Given the description of an element on the screen output the (x, y) to click on. 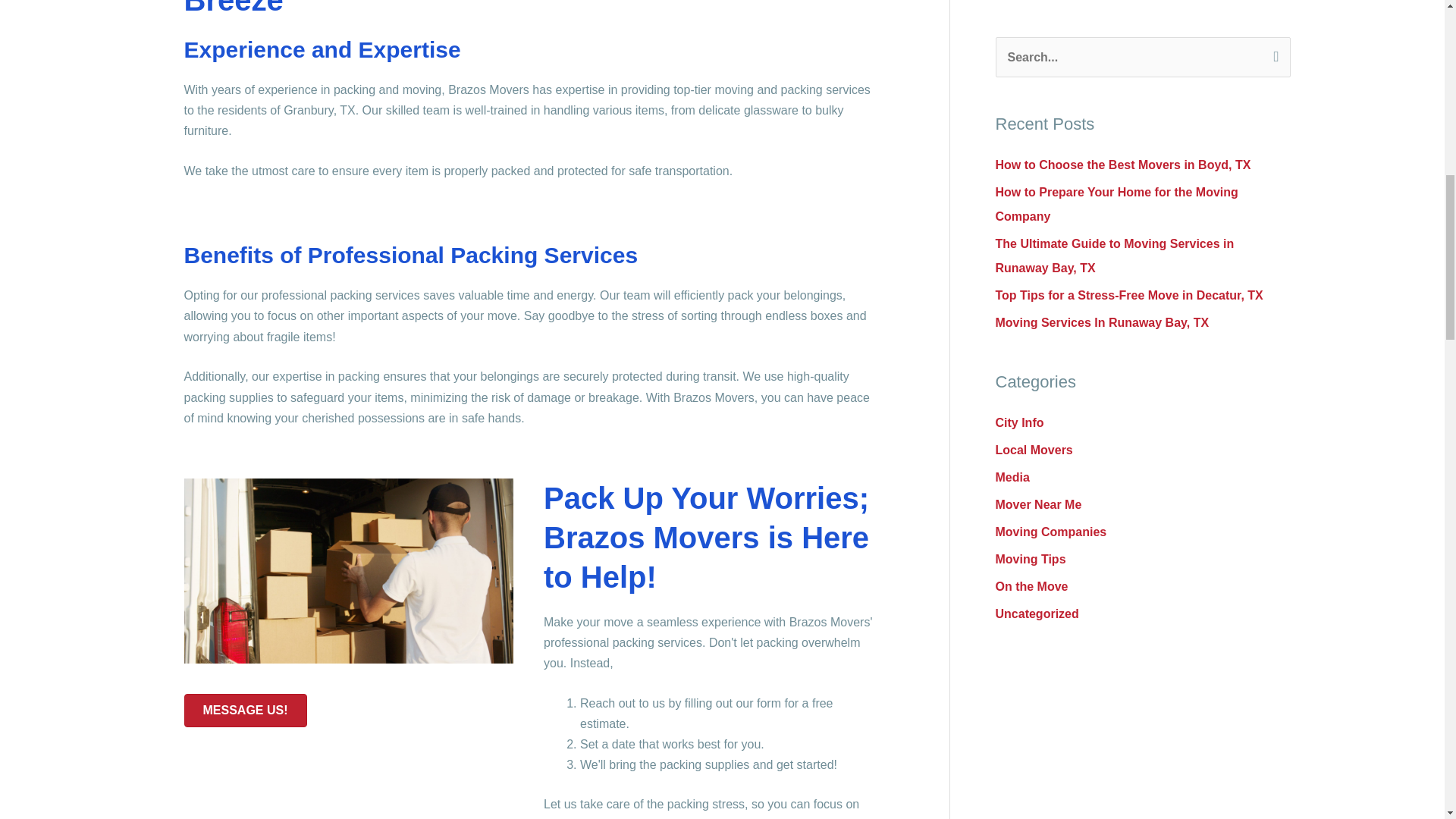
MESSAGE US! (244, 710)
brazos13 (348, 570)
Search (1272, 52)
Search (1272, 52)
